Given the description of an element on the screen output the (x, y) to click on. 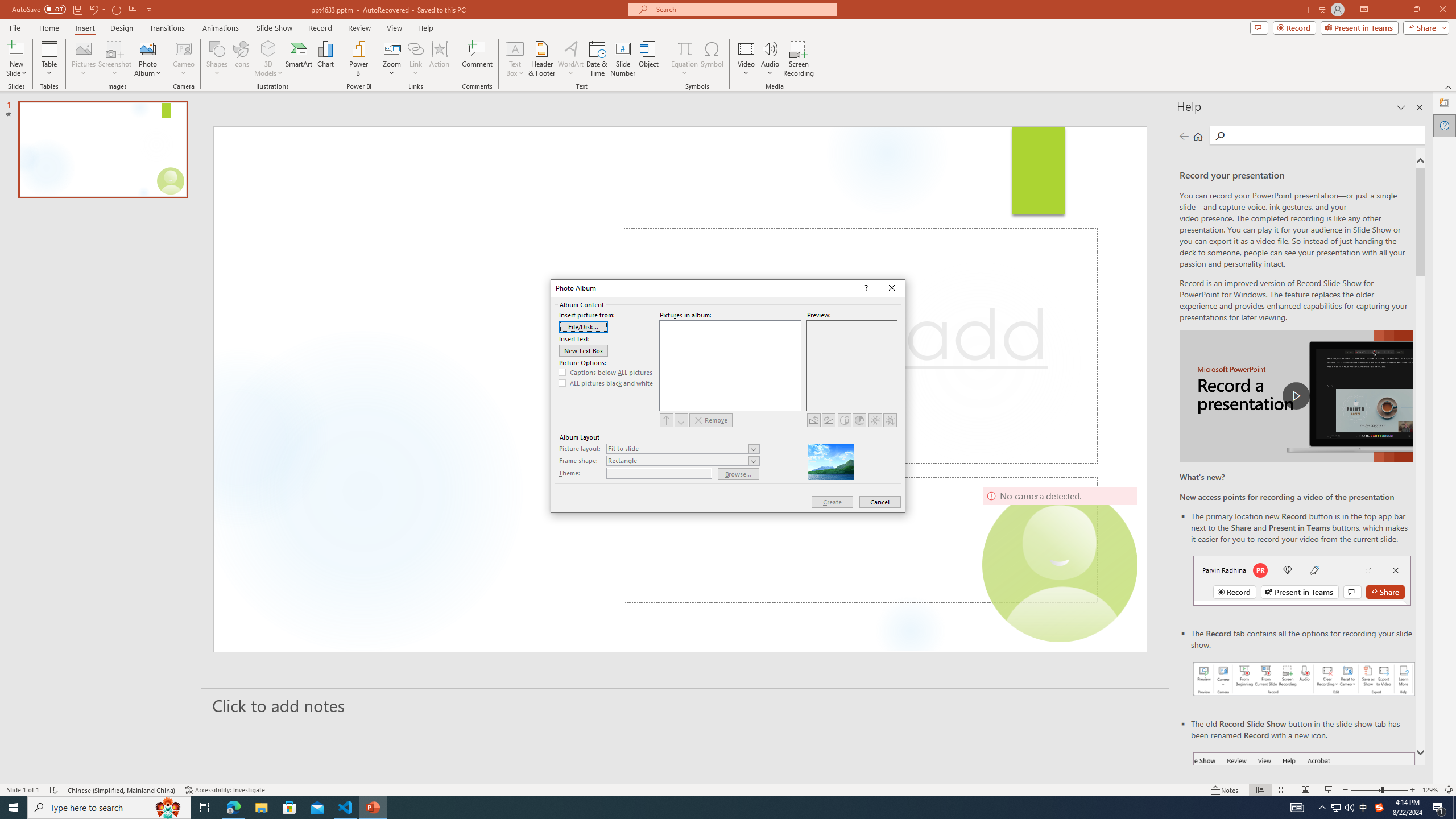
WordArt (570, 58)
Class: MsoCommandBar (728, 789)
Shapes (216, 58)
Picture layout (682, 448)
Browse... (738, 473)
More Brightness (874, 419)
Audio (769, 58)
Object... (649, 58)
Power BI (358, 58)
